Given the description of an element on the screen output the (x, y) to click on. 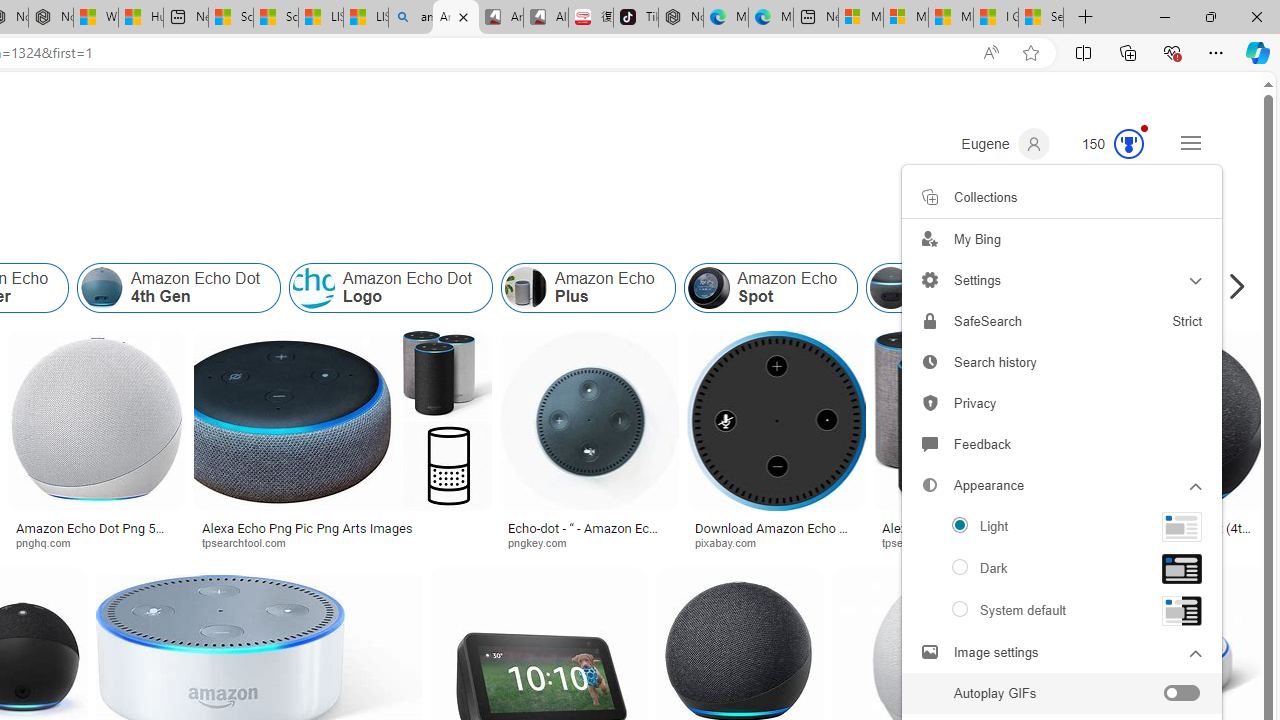
Class: item col (1161, 287)
Alexa Echo Png Pic Png Arts Imagestpsearchtool.comSave (347, 444)
Filter (1173, 189)
Amazon Echo Spot (708, 287)
croma.com (1176, 542)
My Bing (1062, 238)
Image settings Image settings (1062, 652)
Appearance (1062, 569)
